Given the description of an element on the screen output the (x, y) to click on. 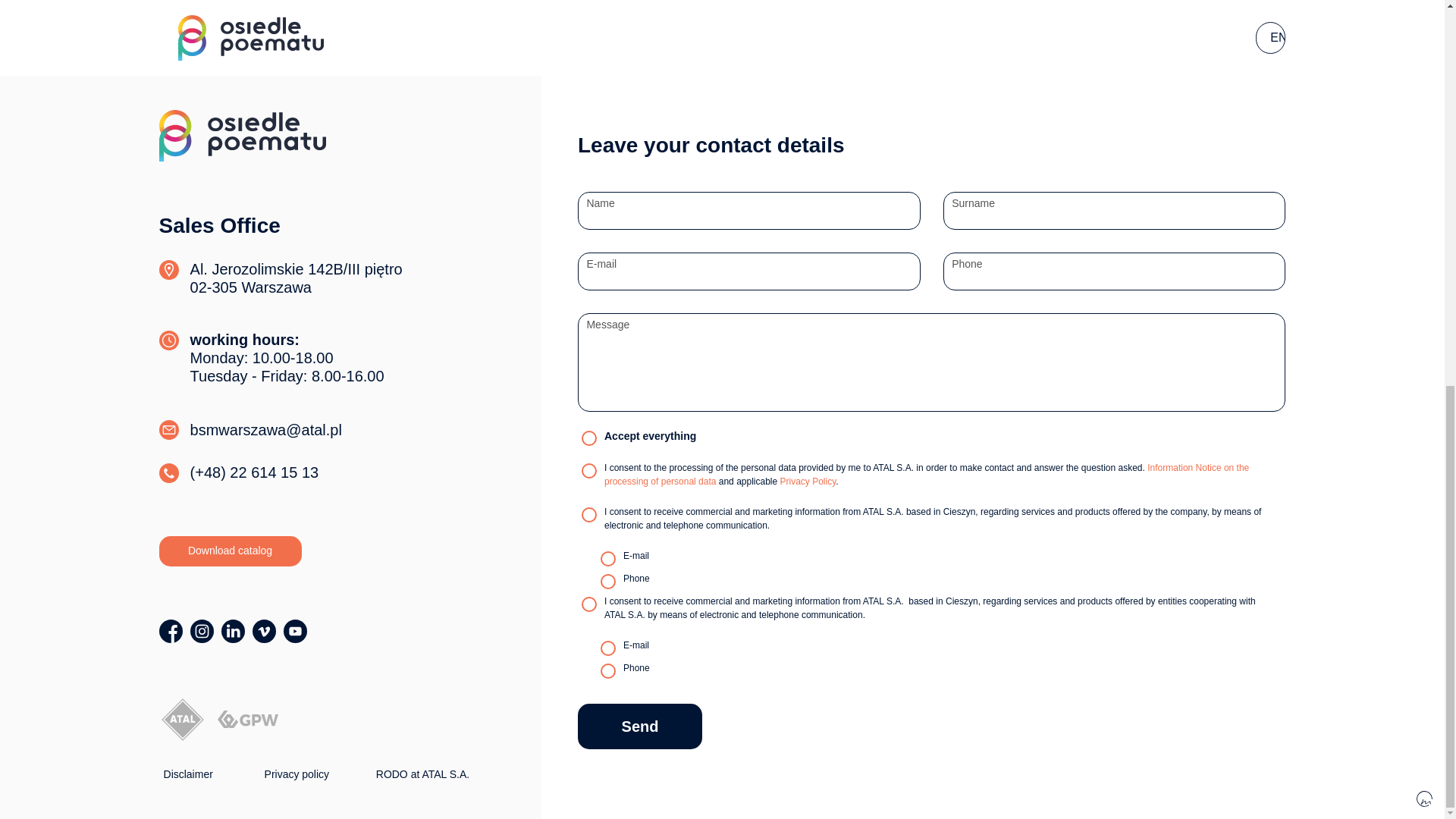
Privacy Policy (807, 480)
Privacy policy (296, 774)
Disclaimer (187, 773)
Information Notice on the processing of personal data (926, 474)
Download catalog (229, 550)
RODO at ATAL S.A. (421, 774)
